Given the description of an element on the screen output the (x, y) to click on. 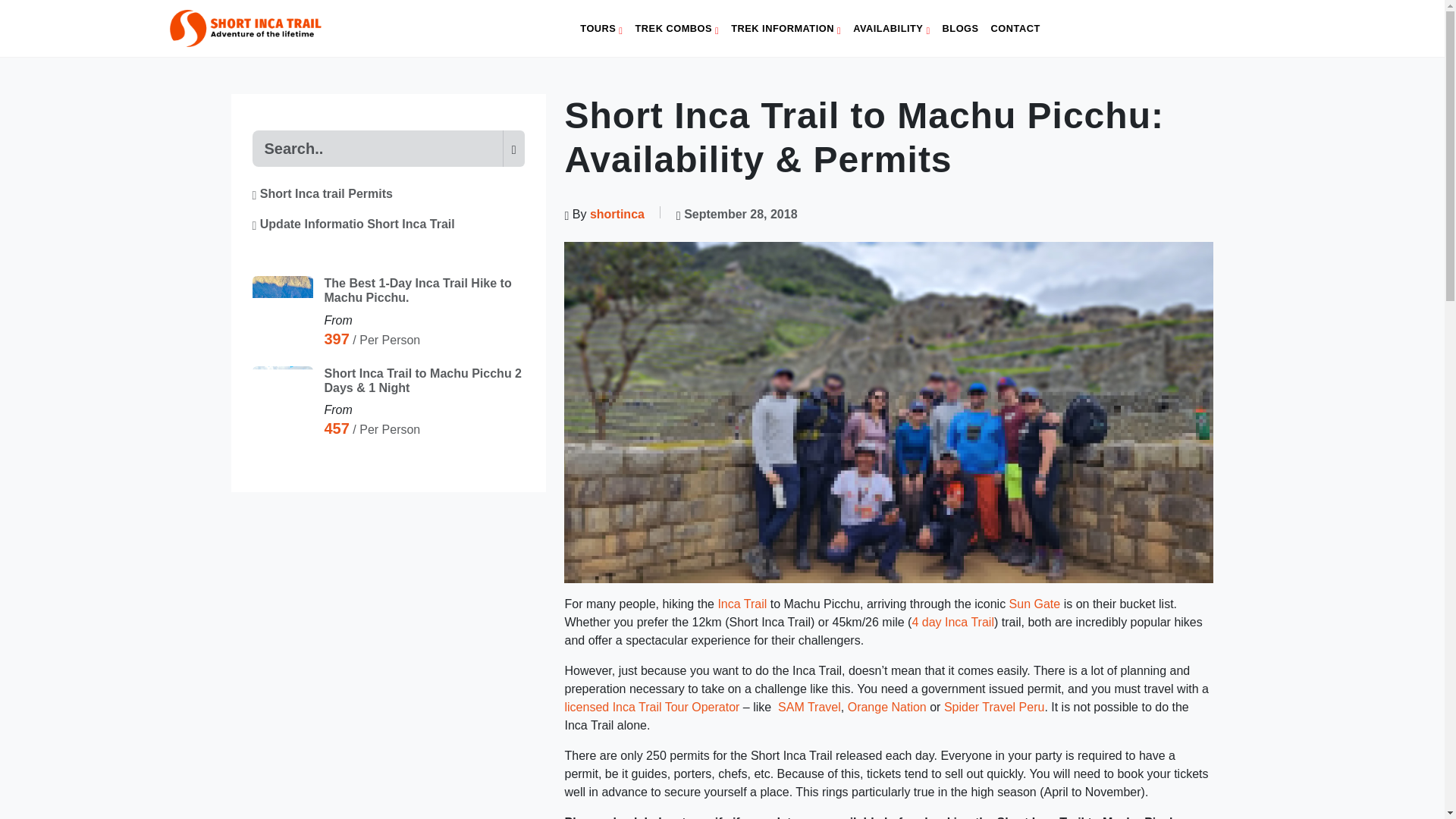
CONTACT (1015, 28)
Short Inca trail Permits (321, 193)
TOURS (600, 28)
TREK INFORMATION (786, 28)
Update Informatio Short Inca Trail (352, 223)
AVAILABILITY (891, 28)
BLOGS (960, 28)
TREK COMBOS (676, 28)
